Given the description of an element on the screen output the (x, y) to click on. 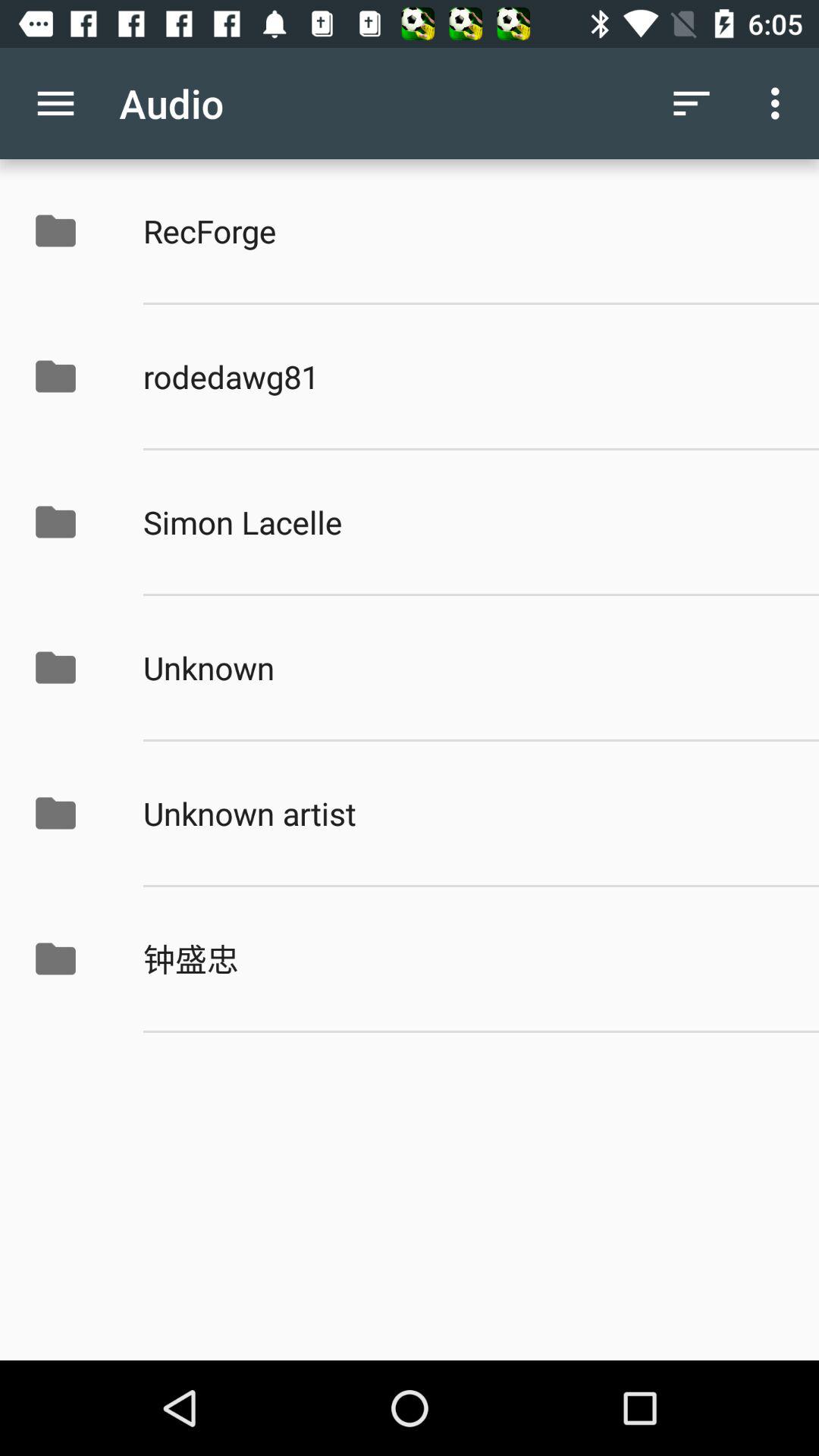
click icon below recforge icon (465, 376)
